Given the description of an element on the screen output the (x, y) to click on. 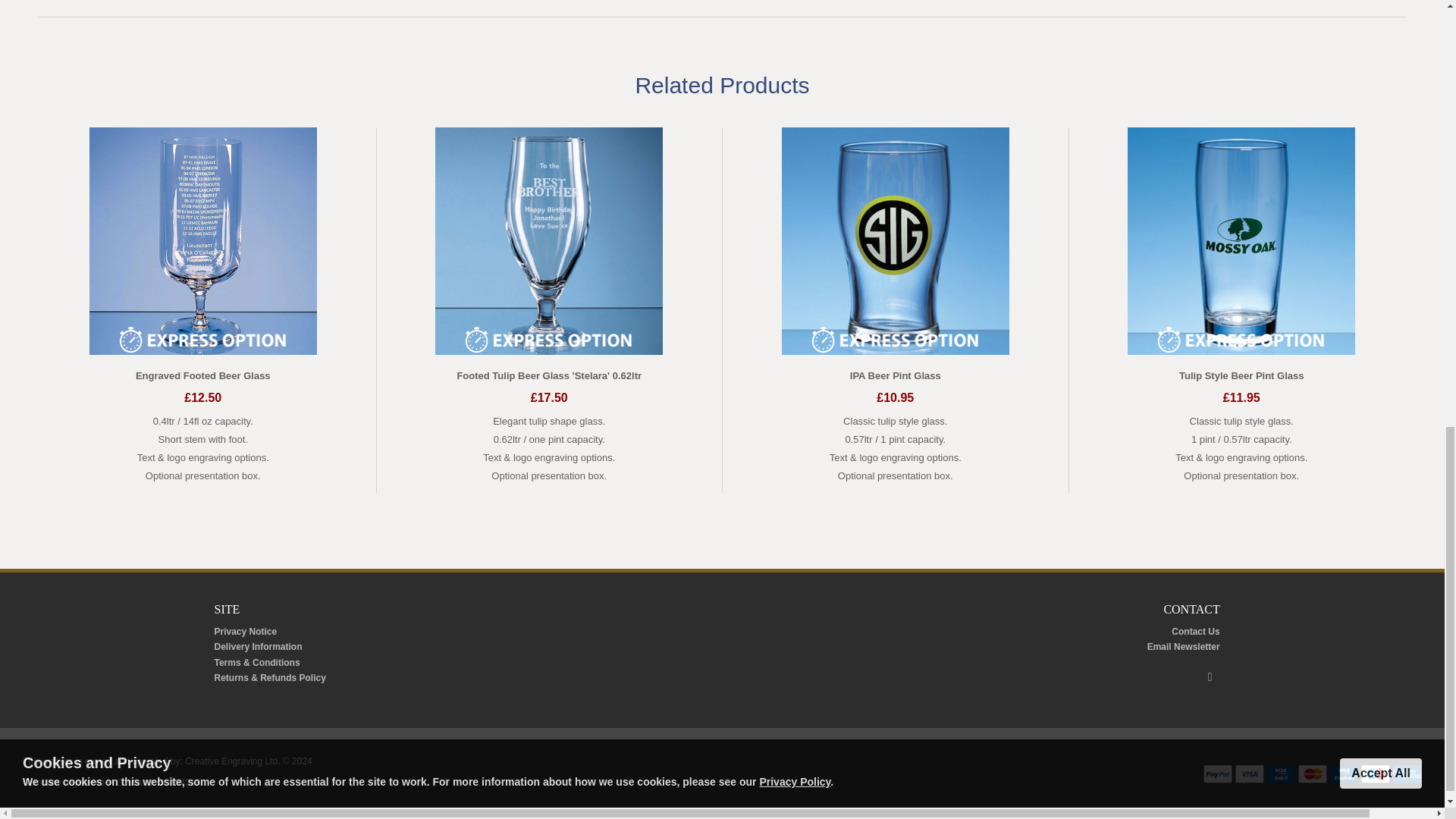
Tulip Style Beer Pint Glass (1241, 375)
Footed Tulip Beer Glass 'Stelara' 0.62ltr (549, 375)
Privacy Notice (245, 631)
Delivery Information (257, 646)
Contact Us (1196, 631)
IPA Beer Pint Glass (895, 375)
Engraved Footed Beer Glass (202, 375)
